Given the description of an element on the screen output the (x, y) to click on. 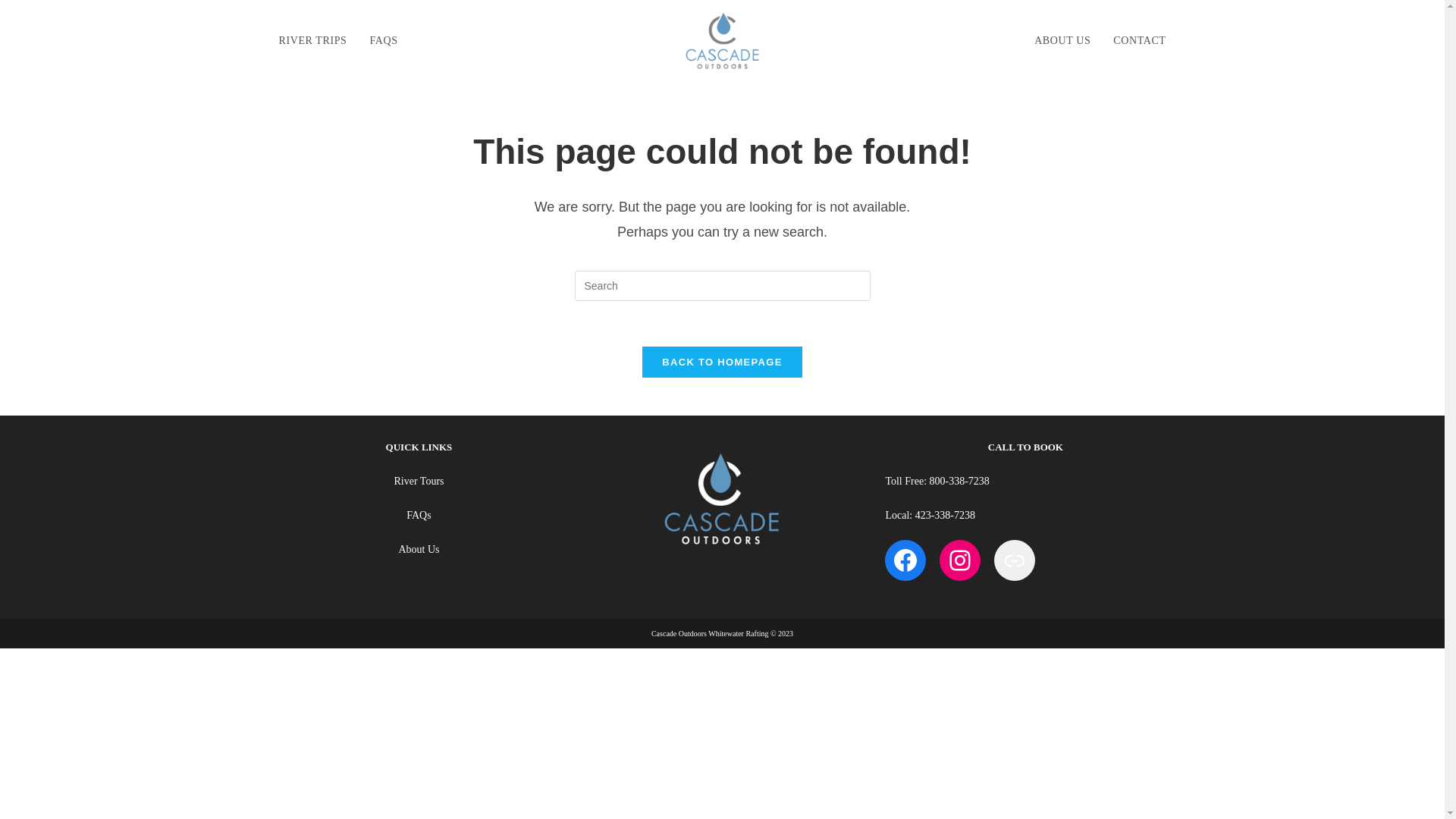
423-338-7238 (945, 514)
800-338-7238 (960, 480)
BACK TO HOMEPAGE (722, 361)
Instagram (959, 559)
RIVER TRIPS (312, 40)
Link (1014, 559)
CONTACT (1139, 40)
ABOUT US (1062, 40)
FAQS (383, 40)
Facebook (905, 559)
